Given the description of an element on the screen output the (x, y) to click on. 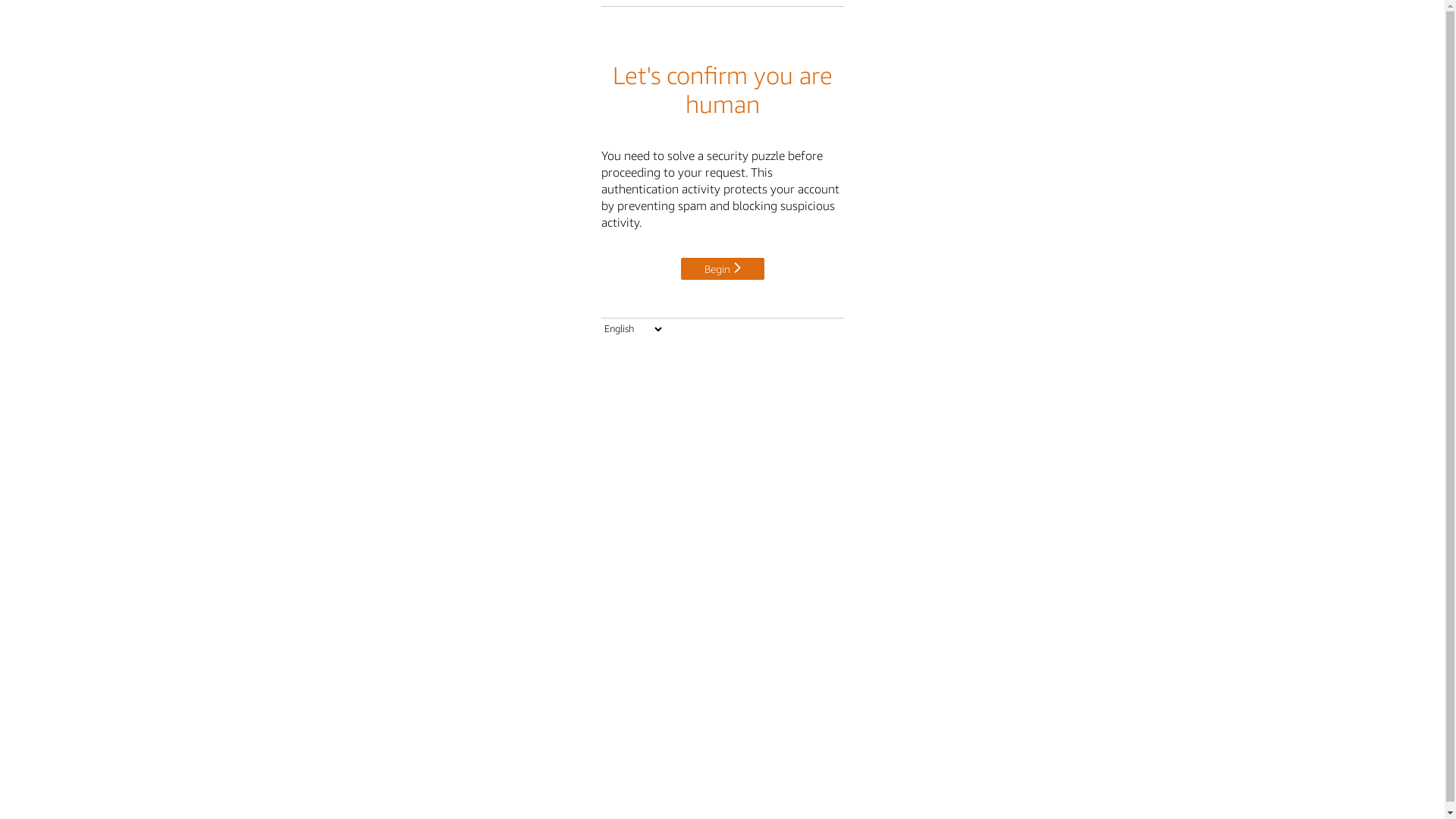
Begin Element type: text (722, 268)
